Given the description of an element on the screen output the (x, y) to click on. 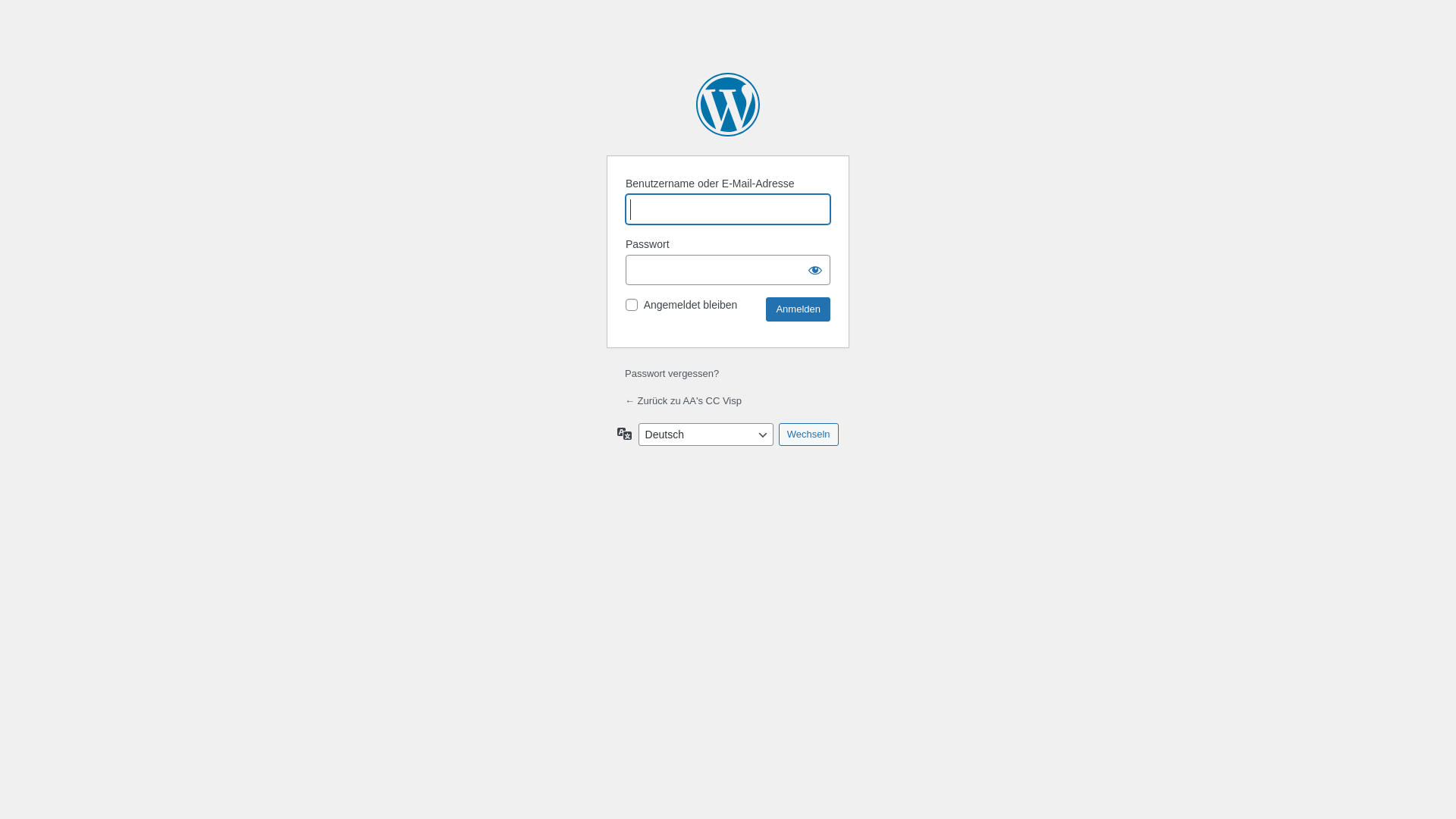
Wechseln Element type: text (808, 434)
Passwort vergessen? Element type: text (671, 373)
Powered by WordPress Element type: text (727, 104)
Anmelden Element type: text (797, 309)
